Given the description of an element on the screen output the (x, y) to click on. 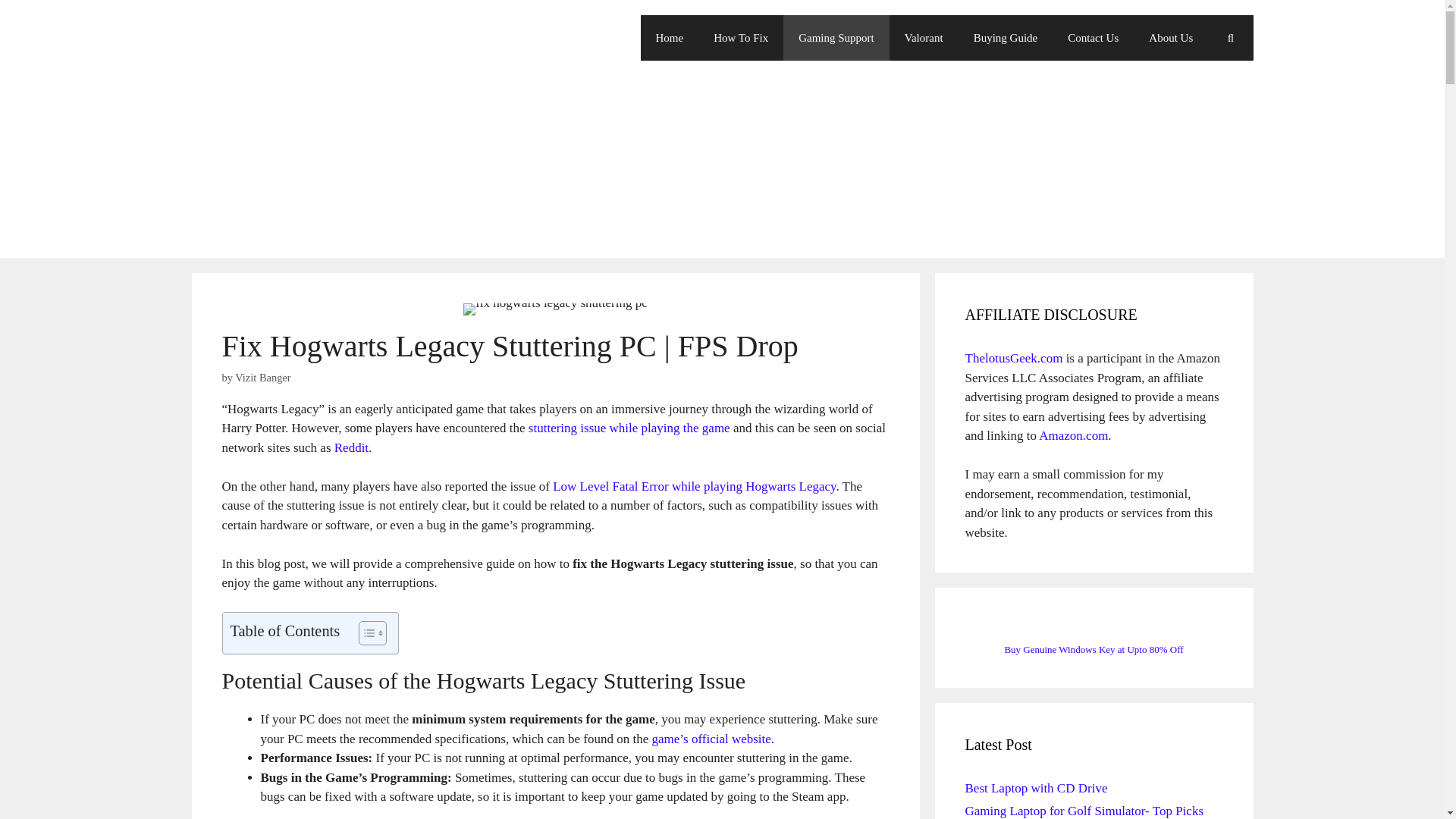
How To Fix (740, 37)
Vizit Banger (261, 377)
Valorant (923, 37)
Home (669, 37)
Reddit (351, 447)
Gaming Support (836, 37)
Contact Us (1093, 37)
View all posts by Vizit Banger (261, 377)
stuttering issue while playing the game (629, 427)
About Us (1171, 37)
Buying Guide (1005, 37)
Low Level Fatal Error while playing Hogwarts Legacy (694, 486)
